Given the description of an element on the screen output the (x, y) to click on. 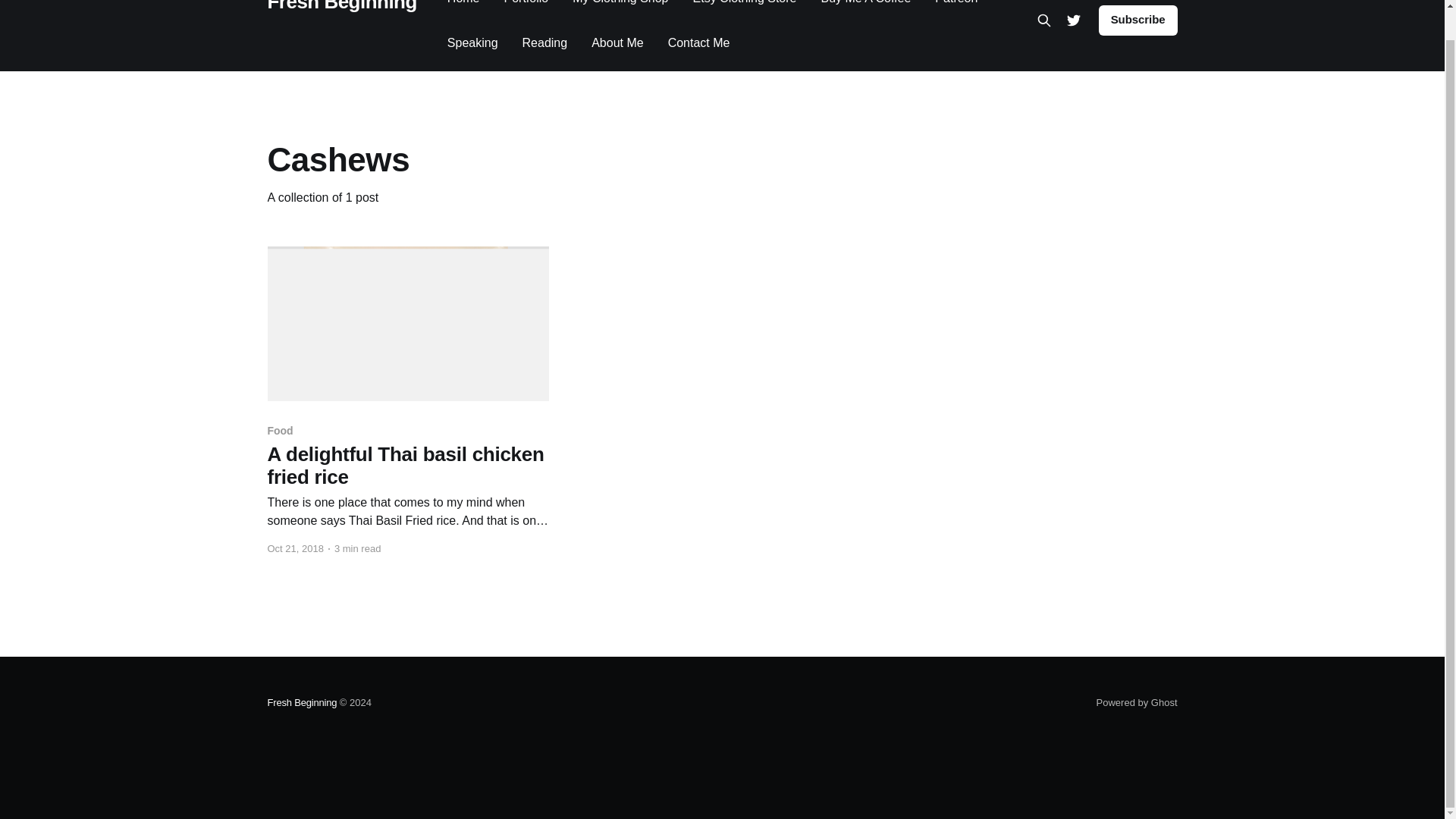
Patreon (955, 4)
Home (463, 4)
Portfolio (525, 4)
My Clothing Shop (620, 4)
Buy Me A Coffee (866, 4)
Contact Me (699, 42)
Etsy Clothing Store (744, 4)
Fresh Beginning (301, 702)
Subscribe (1138, 20)
Twitter (1073, 20)
Powered by Ghost (1136, 702)
Speaking (471, 42)
Fresh Beginning (341, 4)
About Me (617, 42)
